Given the description of an element on the screen output the (x, y) to click on. 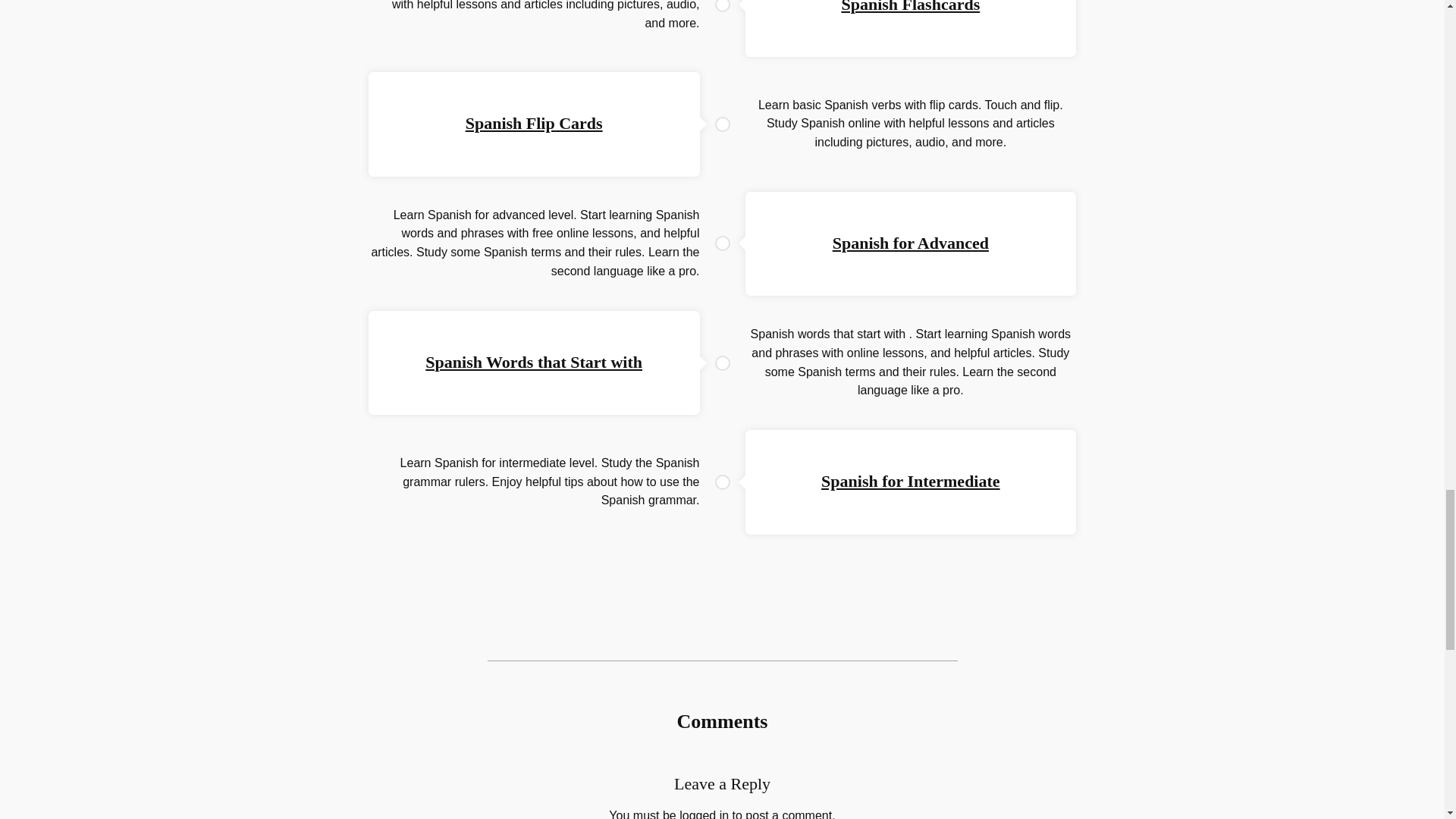
Spanish Flashcards (910, 6)
Spanish Flip Cards (533, 122)
Spanish for Intermediate (910, 480)
Spanish for Advanced (910, 242)
Spanish Words that Start with (533, 361)
logged in (704, 814)
